Given the description of an element on the screen output the (x, y) to click on. 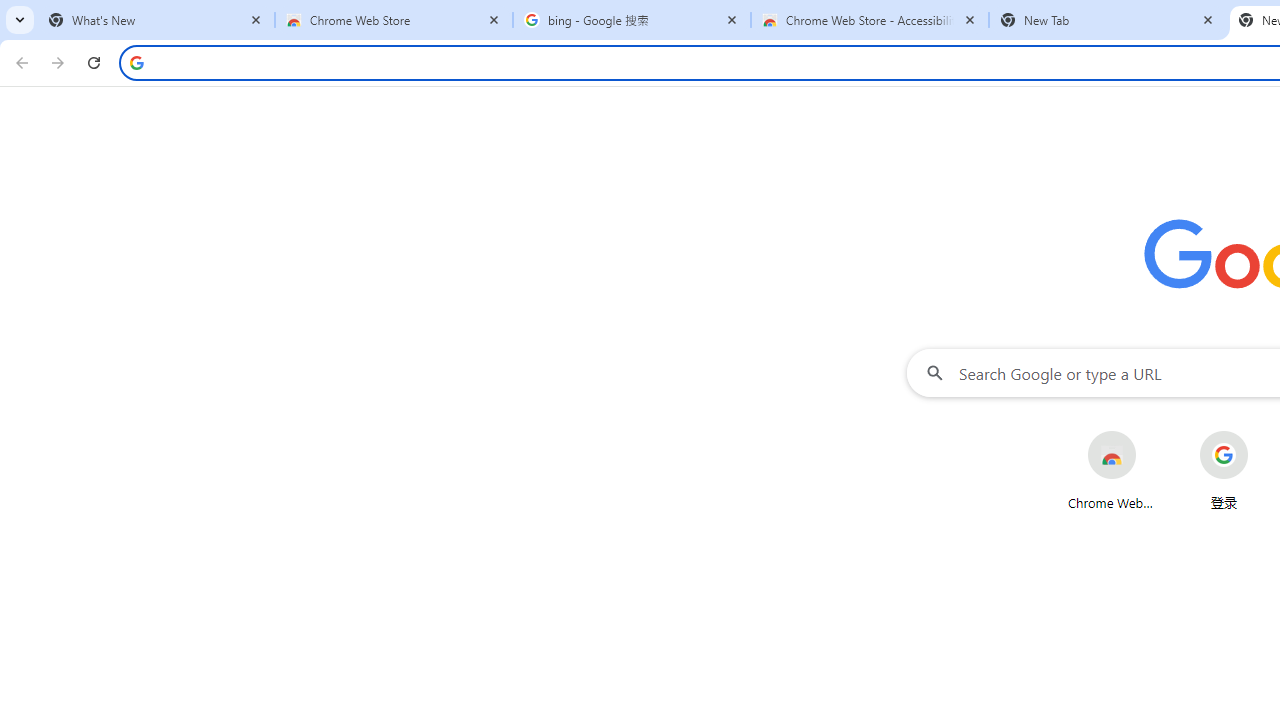
New Tab (1108, 20)
